Given the description of an element on the screen output the (x, y) to click on. 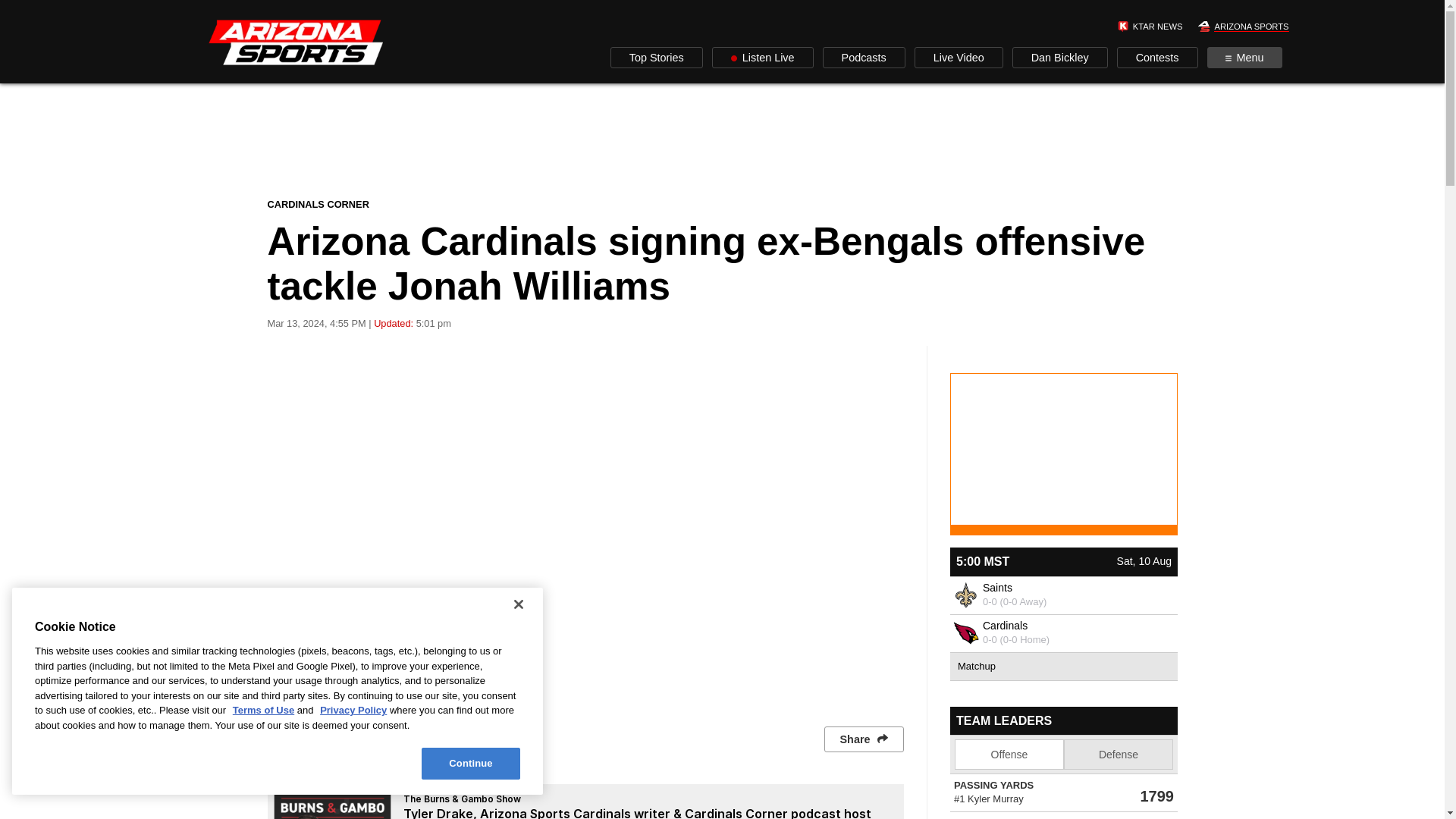
widget (1062, 762)
3rd party ad content (1062, 440)
widget (1062, 613)
3rd party ad content (721, 140)
